Given the description of an element on the screen output the (x, y) to click on. 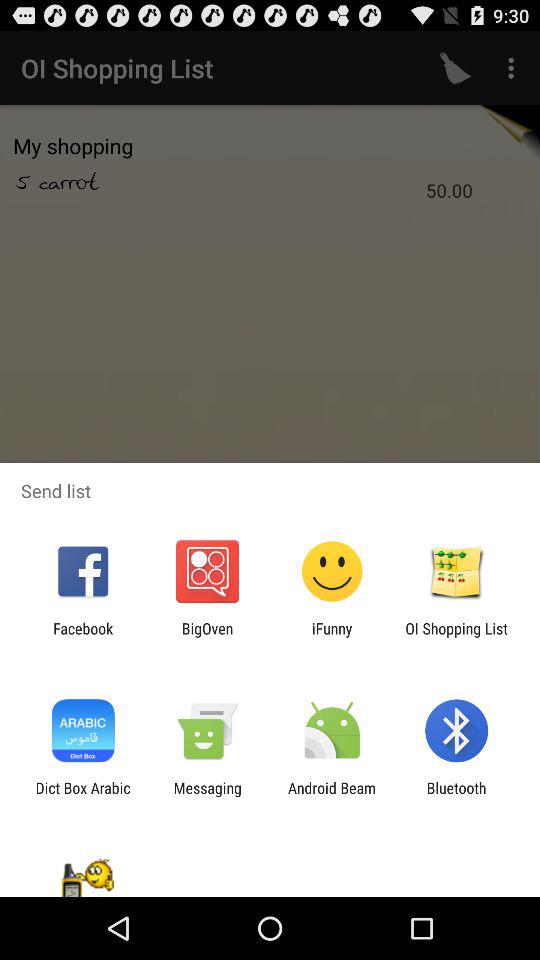
click app next to android beam app (456, 796)
